Given the description of an element on the screen output the (x, y) to click on. 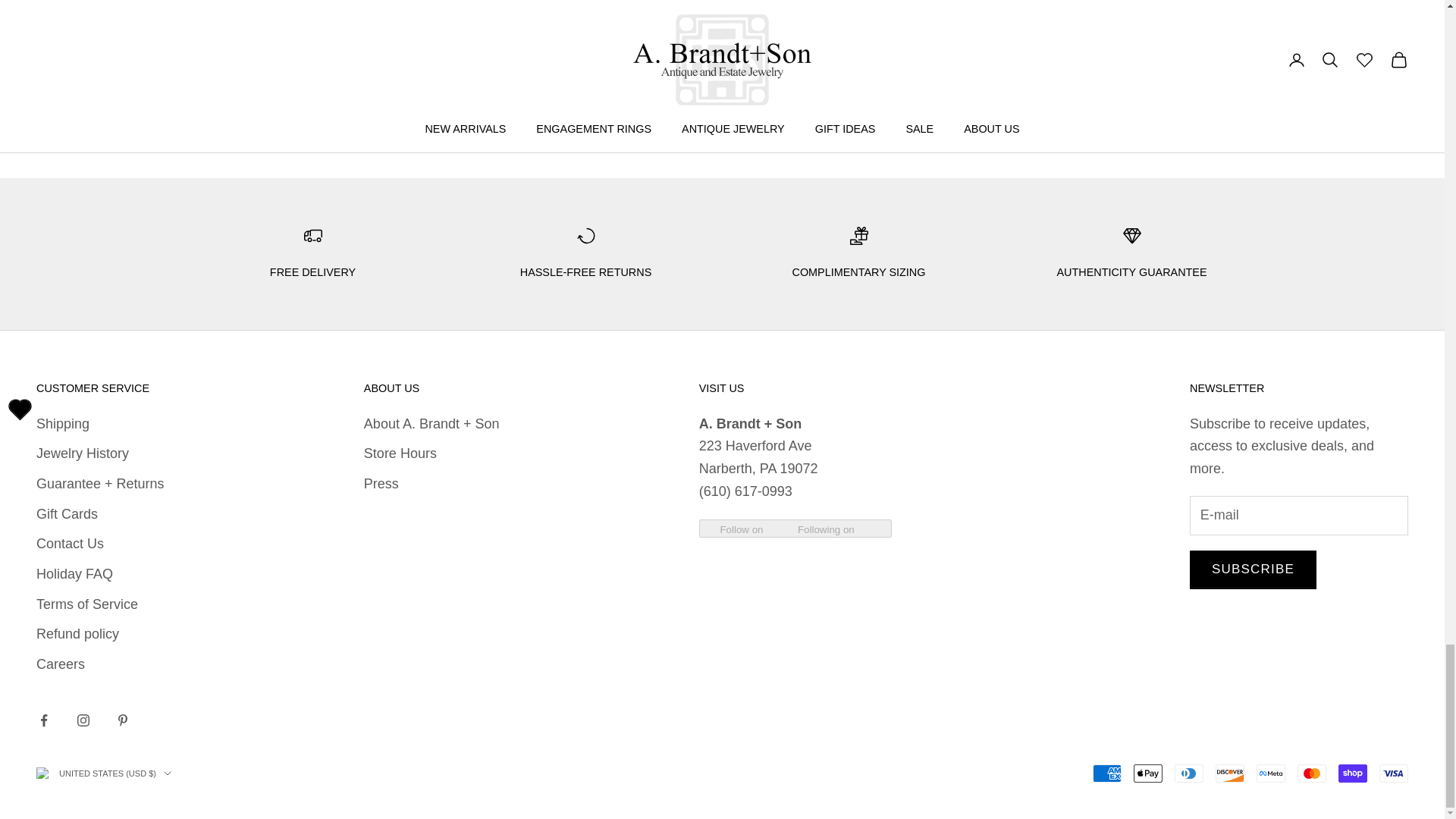
SPECIFICATIONS (497, 94)
